Given the description of an element on the screen output the (x, y) to click on. 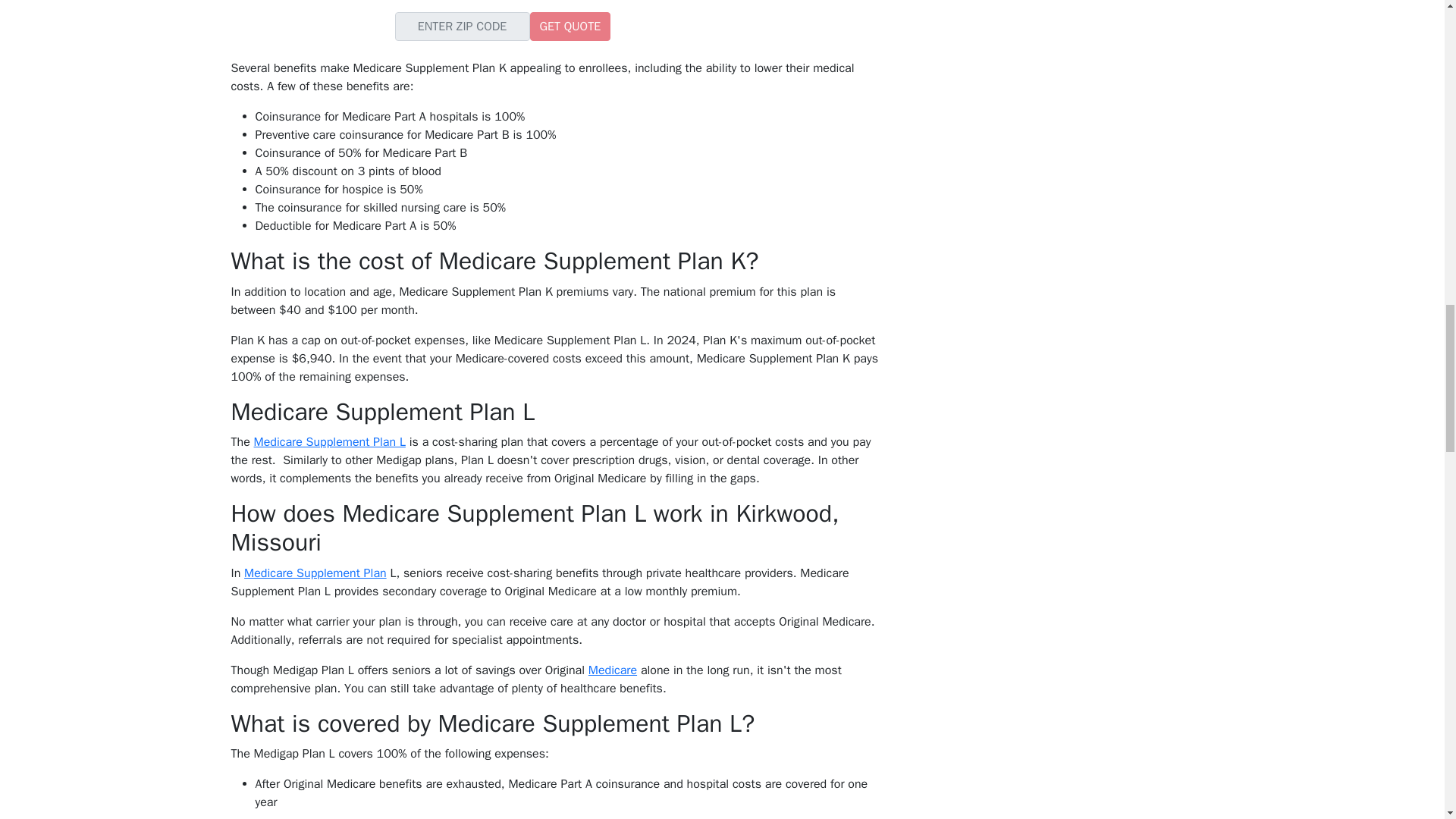
Medicare Supplement Plan L (329, 441)
Medicare (612, 670)
Medicare Supplement Plan (315, 572)
